Given the description of an element on the screen output the (x, y) to click on. 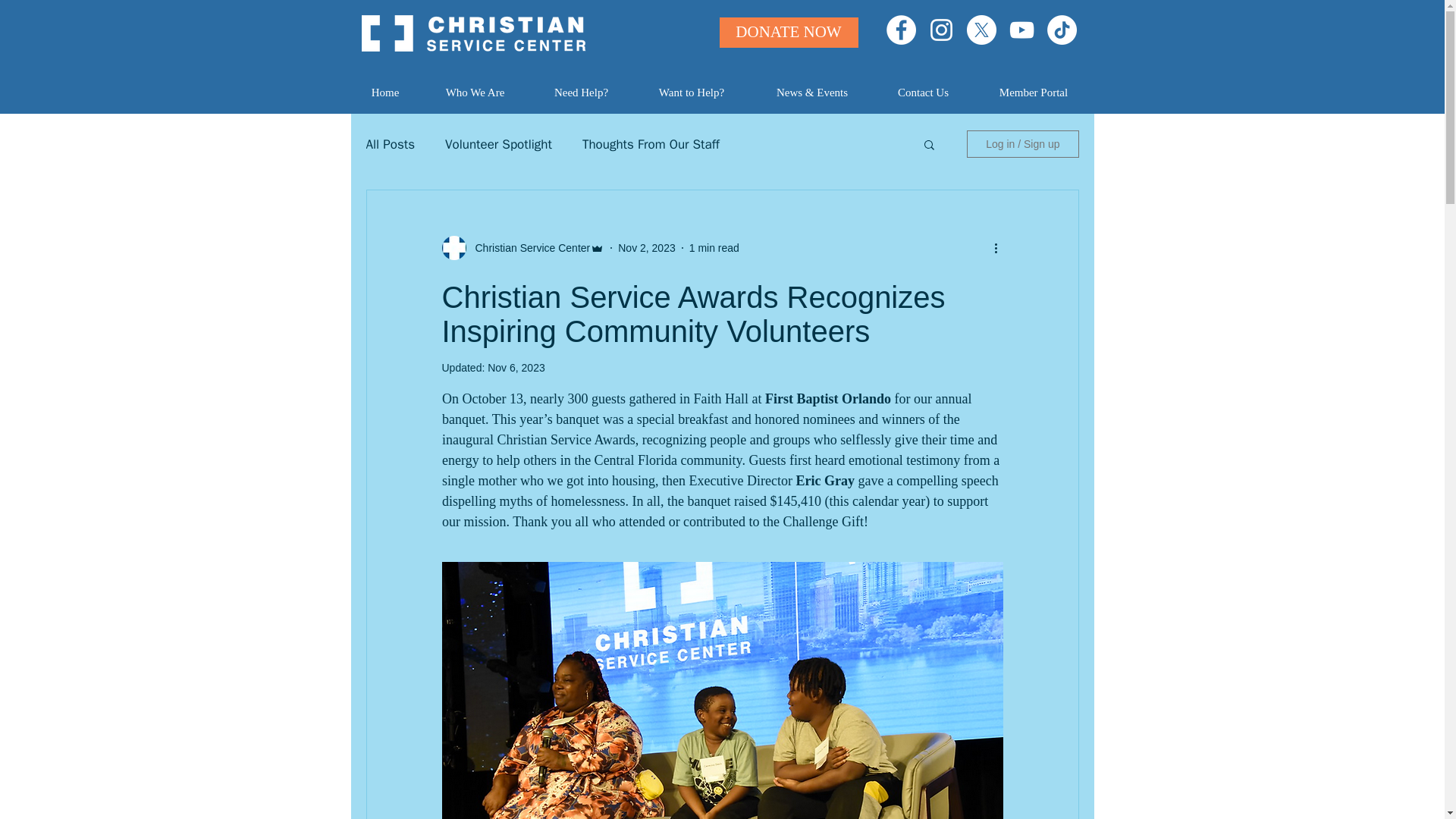
Need Help? (581, 92)
Contact Us (923, 92)
DONATE NOW (788, 32)
Home (384, 92)
Christian Service Center (527, 247)
1 min read (713, 246)
Nov 6, 2023 (515, 367)
Nov 2, 2023 (646, 246)
Want to Help? (691, 92)
Who We Are (475, 92)
